Given the description of an element on the screen output the (x, y) to click on. 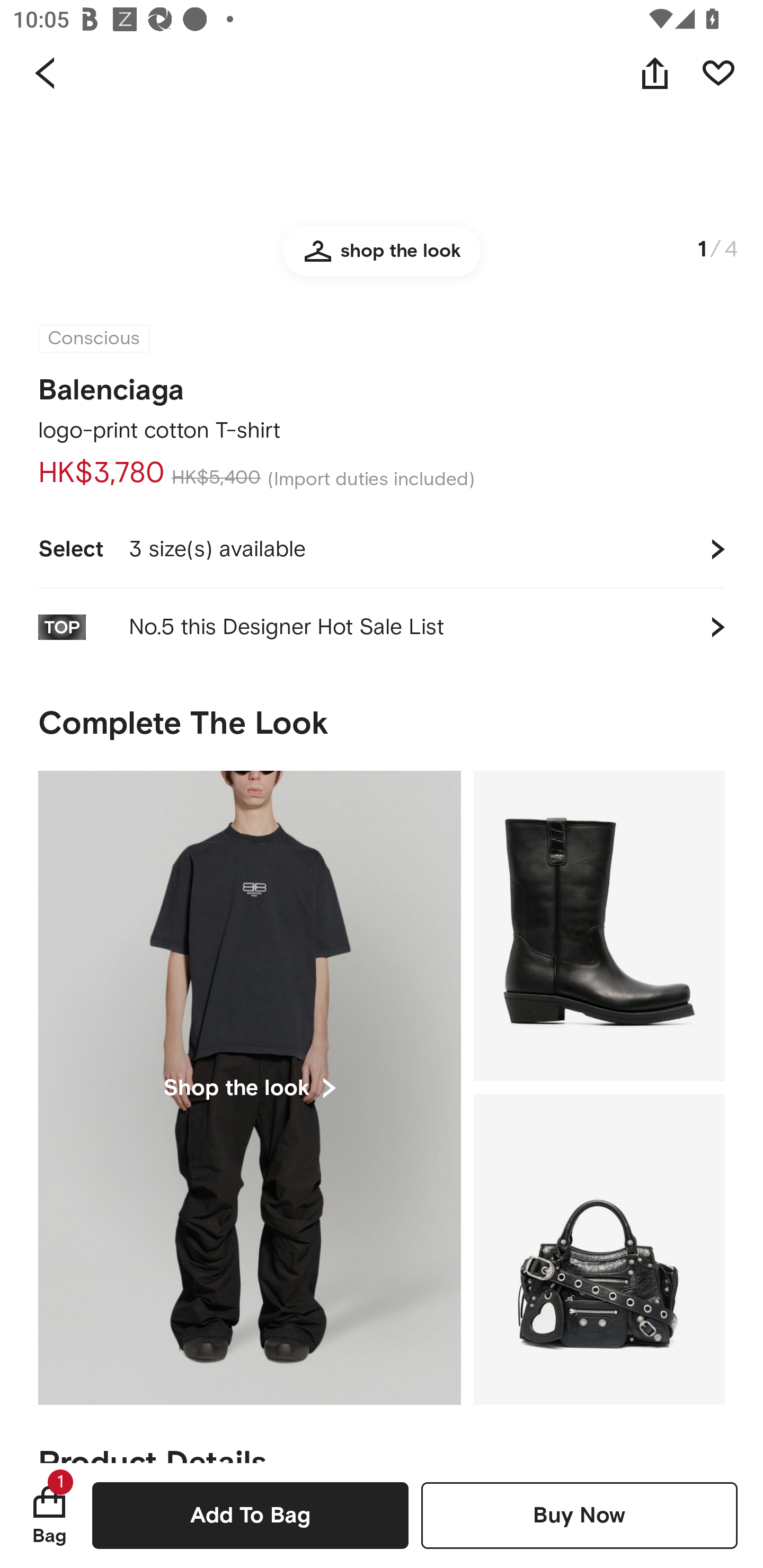
shop the look (381, 259)
Balenciaga (111, 384)
Select 3 size(s) available (381, 549)
No.5 this Designer Hot Sale List (381, 626)
Bag 1 (49, 1515)
Add To Bag (250, 1515)
Buy Now (579, 1515)
